Given the description of an element on the screen output the (x, y) to click on. 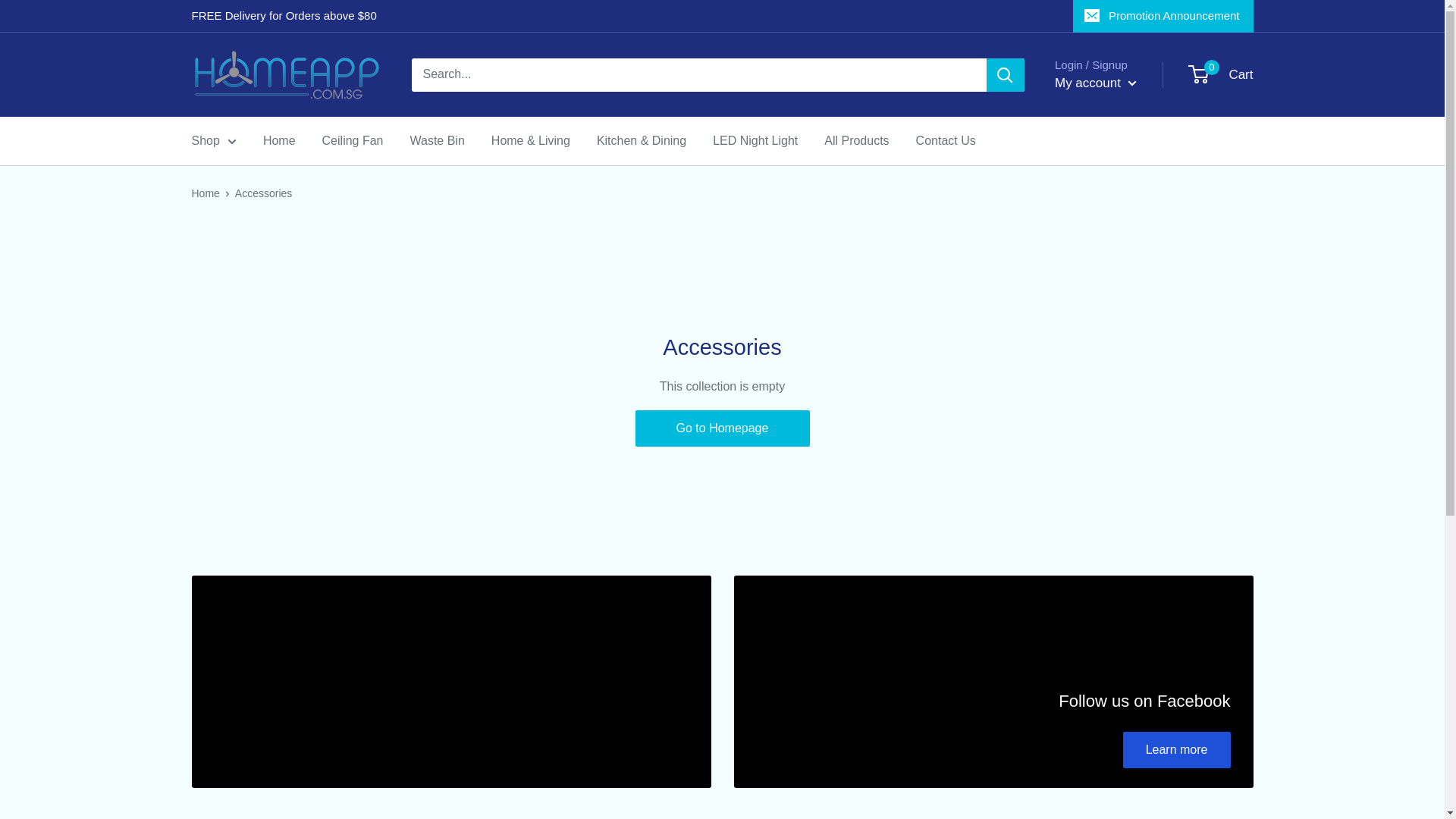
Promotion Announcement (1095, 83)
